Given the description of an element on the screen output the (x, y) to click on. 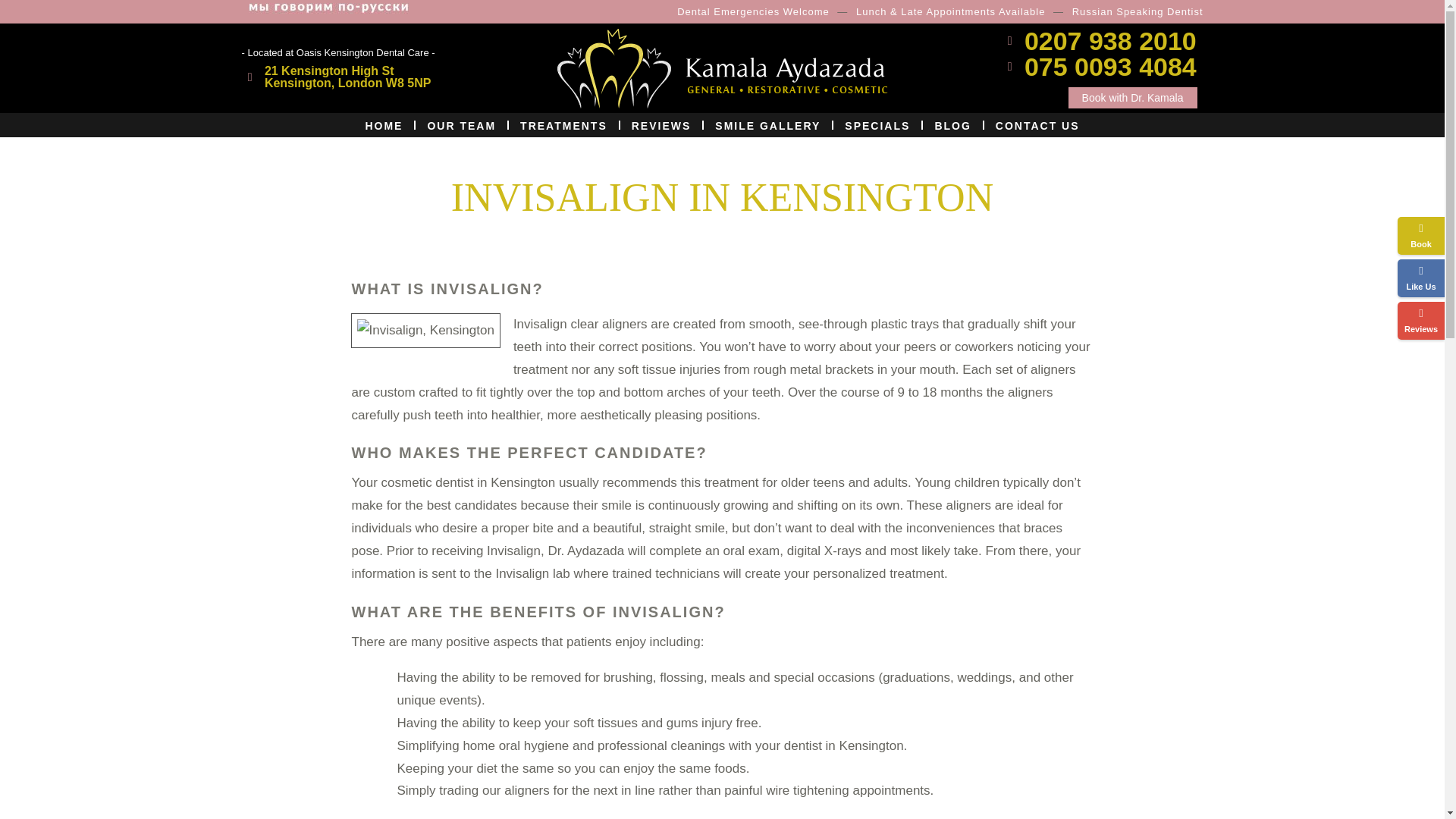
075 0093 4084 (1098, 66)
Dental Emergencies Welcome (753, 11)
OUR TEAM (335, 77)
Book with Dr. Kamala (461, 125)
Kensington Dentist (1131, 97)
Our Team (383, 125)
Russian Speaking Dentist (461, 125)
HOME (1137, 11)
Dental Services (383, 125)
